Given the description of an element on the screen output the (x, y) to click on. 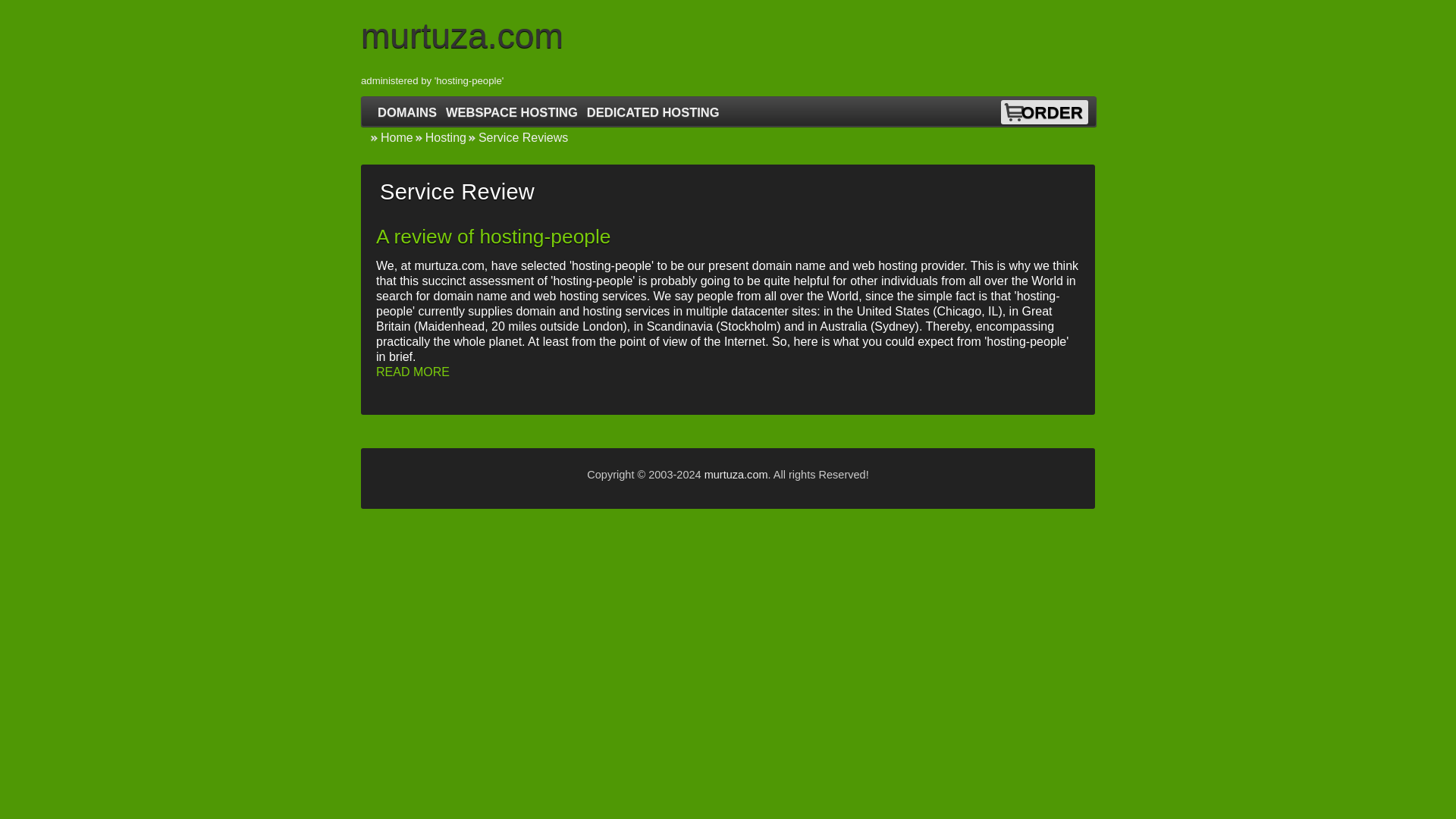
Home (390, 137)
READ MORE (412, 371)
Hosting (439, 137)
A review of hosting-people (493, 236)
DOMAINS (407, 112)
ORDER (1051, 112)
DEDICATED HOSTING (653, 112)
murtuza.com (736, 474)
WEBSPACE HOSTING (511, 112)
